Given the description of an element on the screen output the (x, y) to click on. 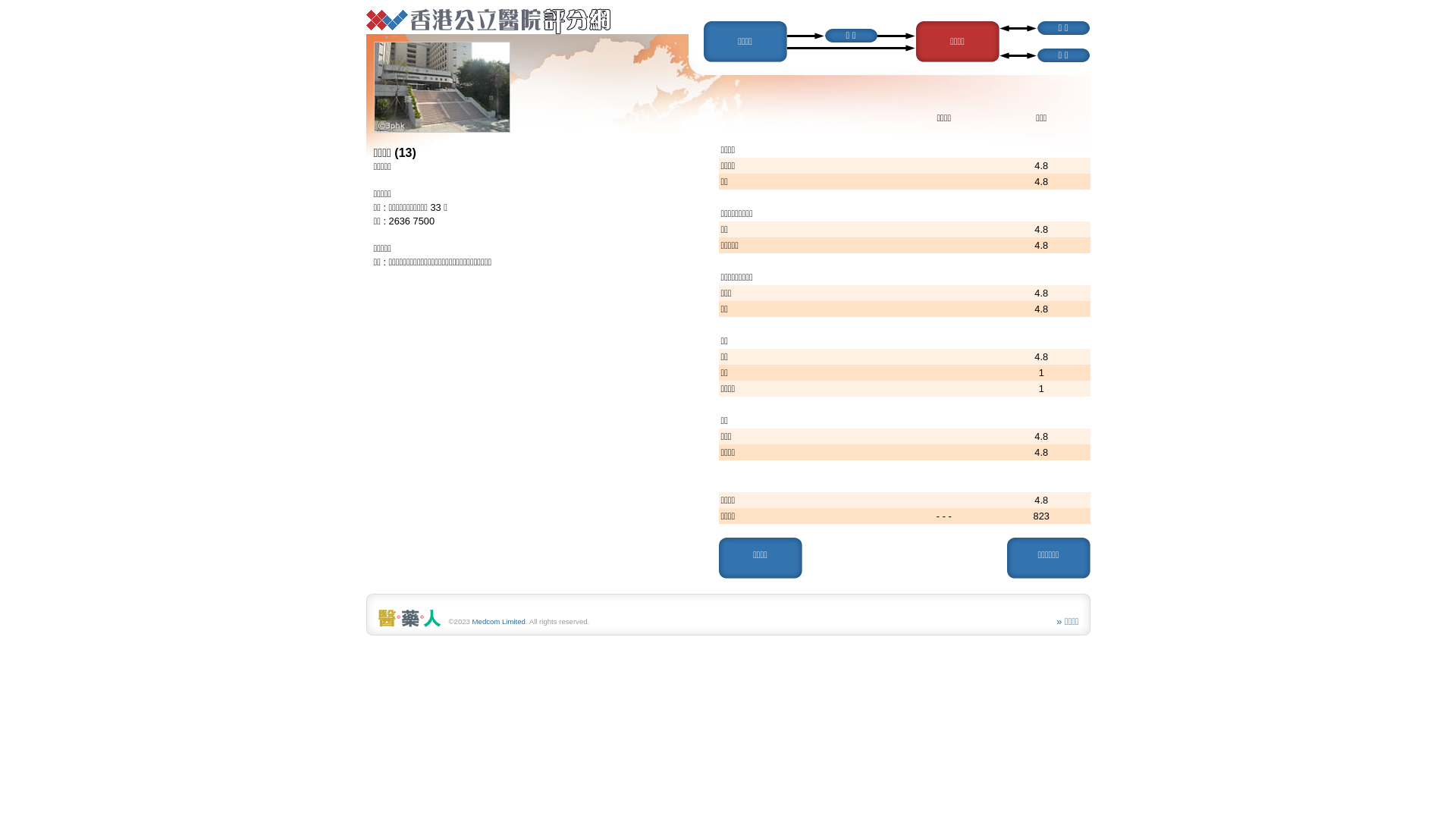
Medcom Limited Element type: text (498, 621)
